Given the description of an element on the screen output the (x, y) to click on. 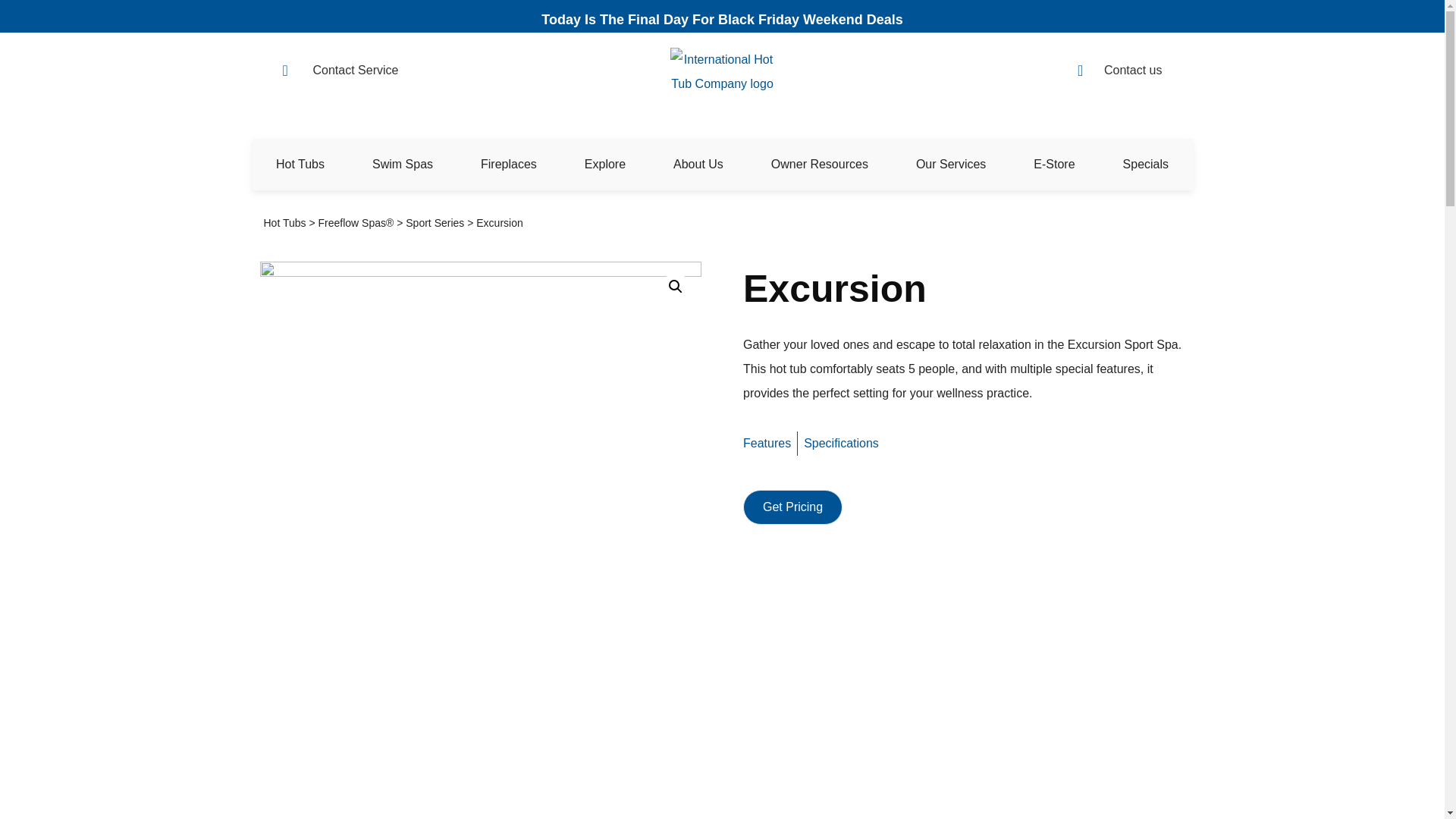
Contact us (1119, 70)
Contact Service (384, 70)
Explore (604, 164)
Hot Tubs (299, 164)
About Us (698, 164)
Today Is The Final Day For Black Friday Weekend Deals (721, 19)
Fireplaces (508, 164)
Swim Spas (403, 164)
